Given the description of an element on the screen output the (x, y) to click on. 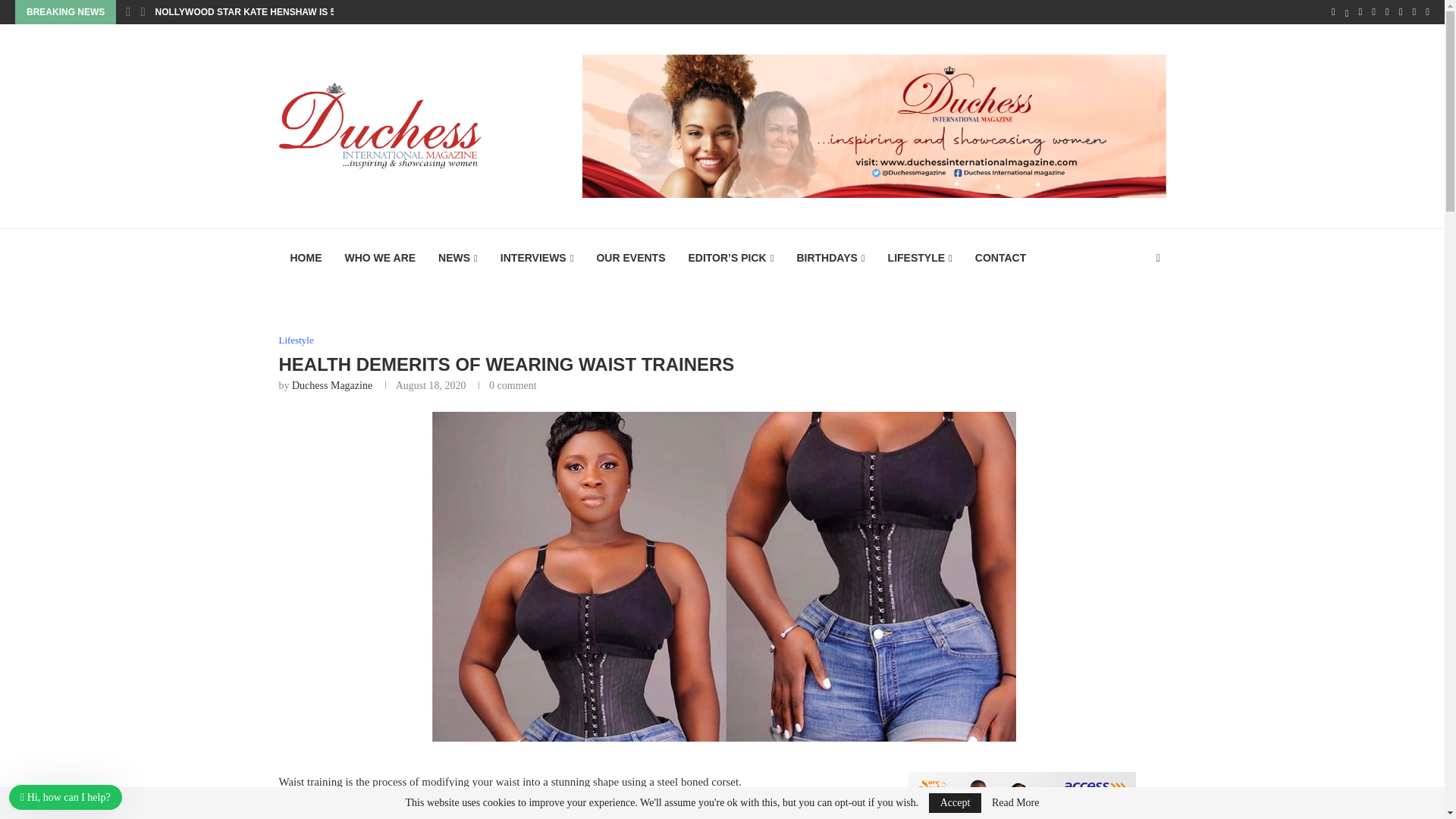
NOLLYWOOD STAR KATE HENSHAW IS 53 YEARS YOUNG (282, 12)
HOME (306, 258)
